Given the description of an element on the screen output the (x, y) to click on. 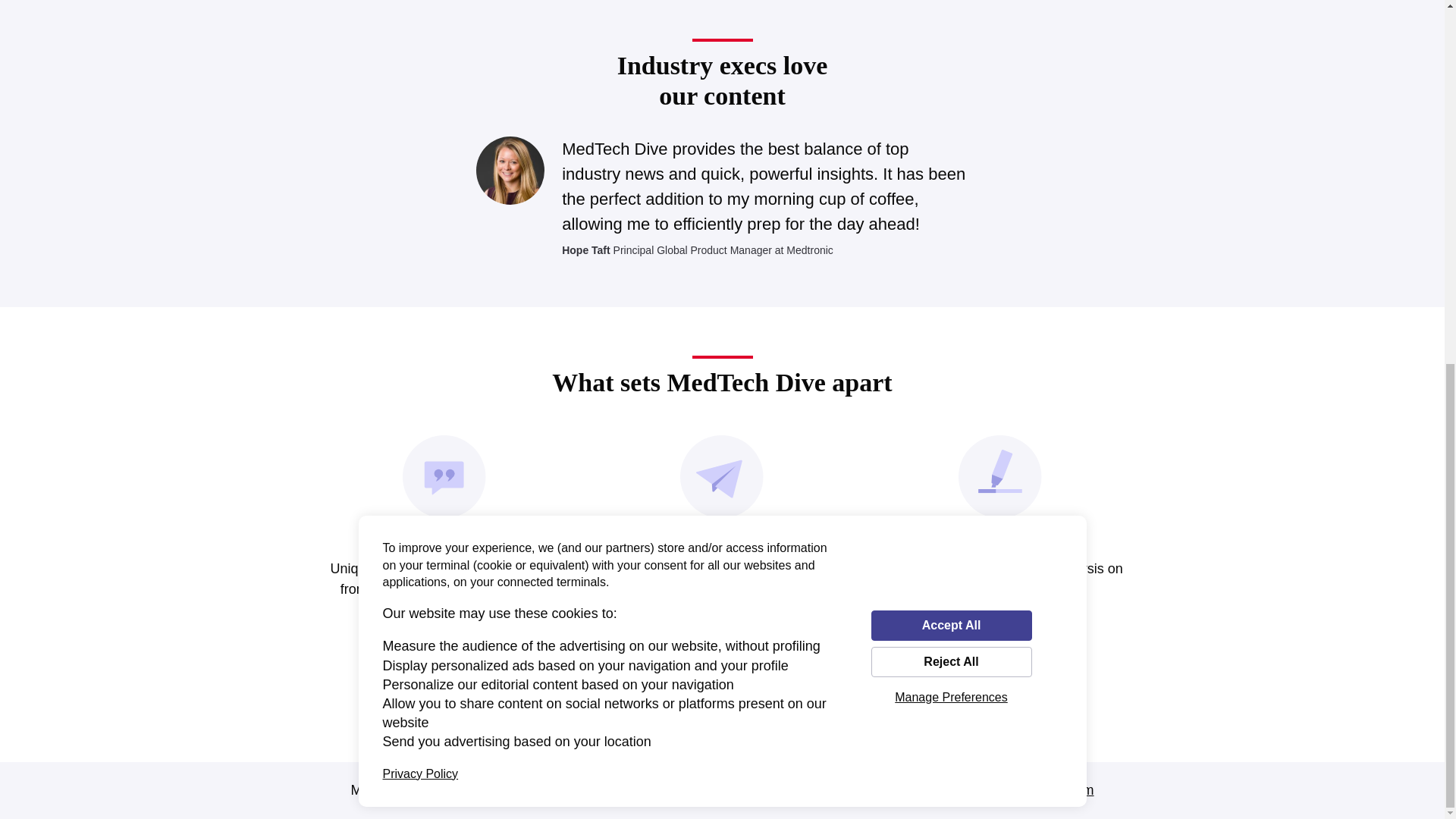
Privacy Policy (419, 124)
Manage Preferences (950, 47)
Privacy Policy (825, 789)
Reject All (950, 13)
Advertise (652, 789)
Terms of Use (733, 789)
Industry Dive (570, 789)
Get the newsletter (721, 653)
